Given the description of an element on the screen output the (x, y) to click on. 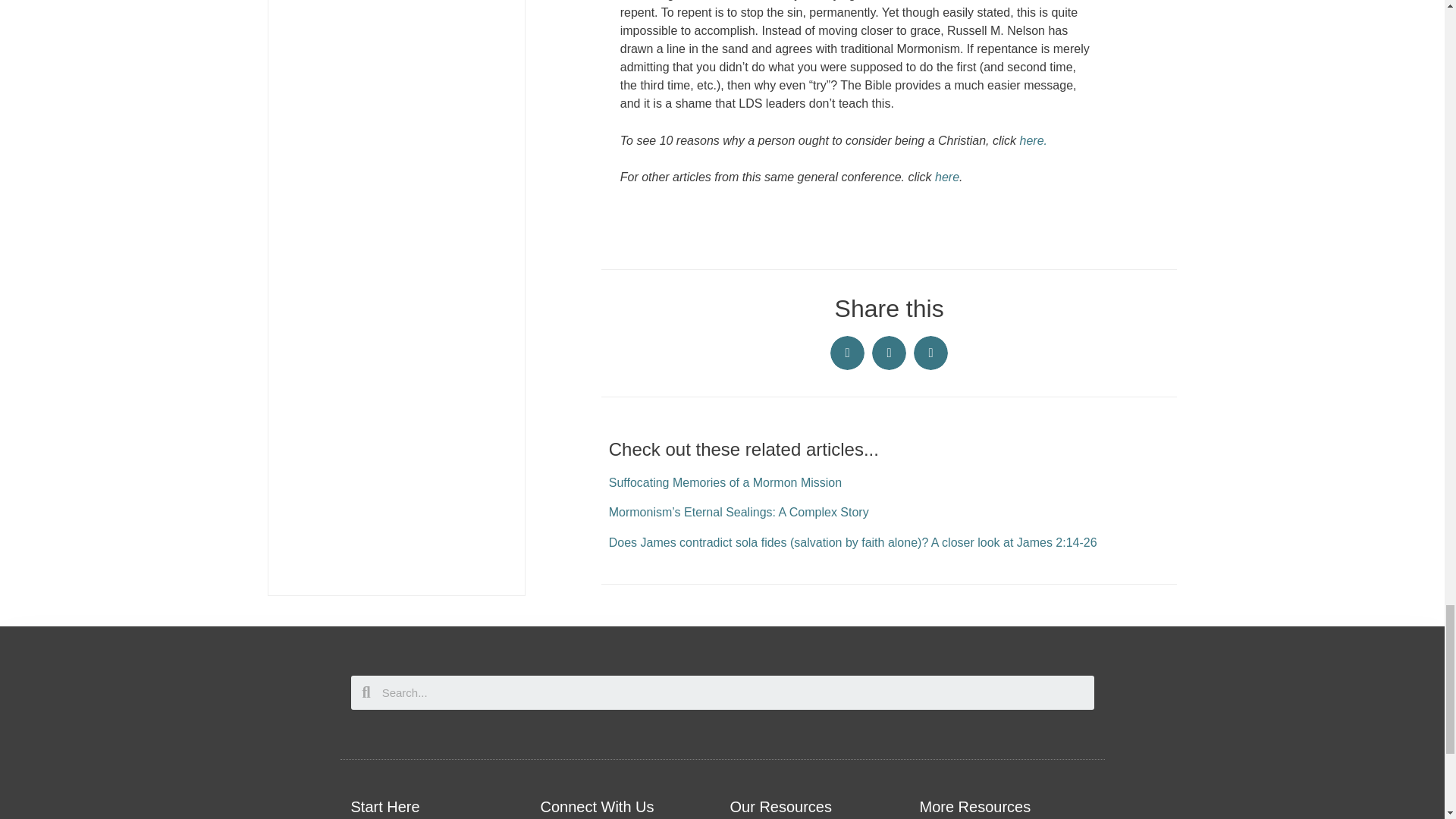
Search (732, 692)
